Given the description of an element on the screen output the (x, y) to click on. 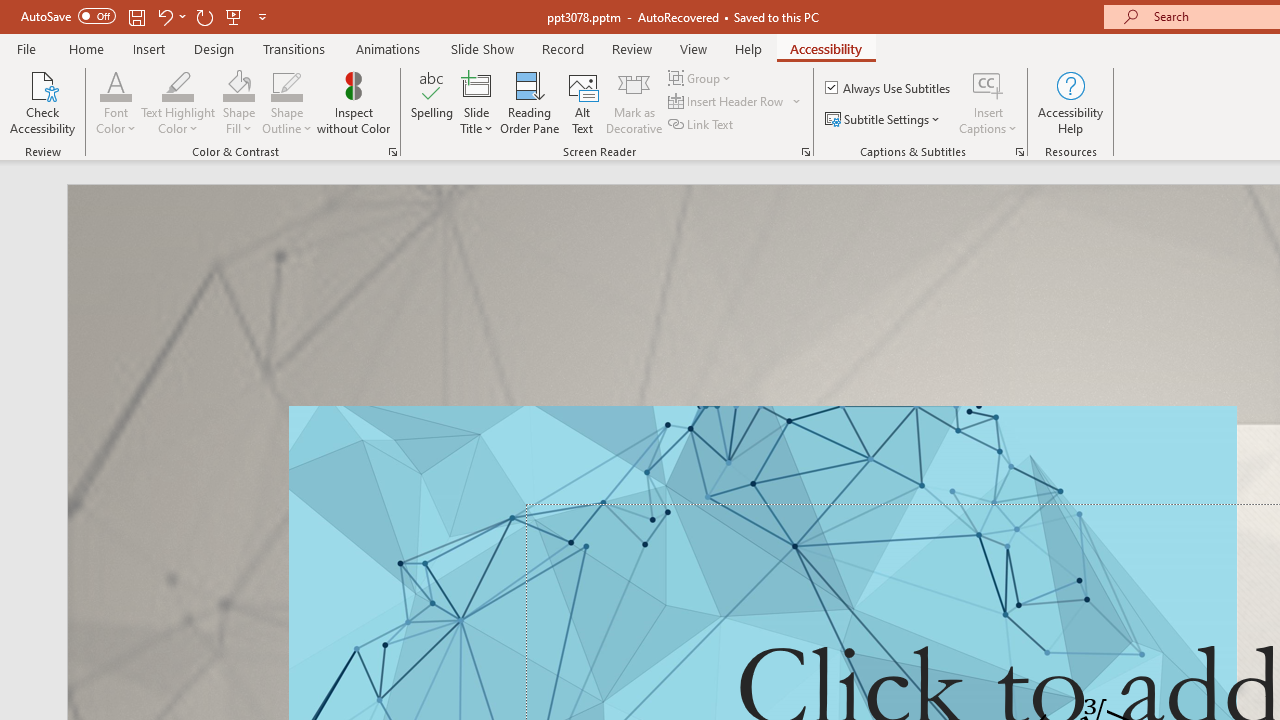
Subtitle Settings (884, 119)
Color & Contrast (392, 151)
Inspect without Color (353, 102)
Mark as Decorative (634, 102)
